Given the description of an element on the screen output the (x, y) to click on. 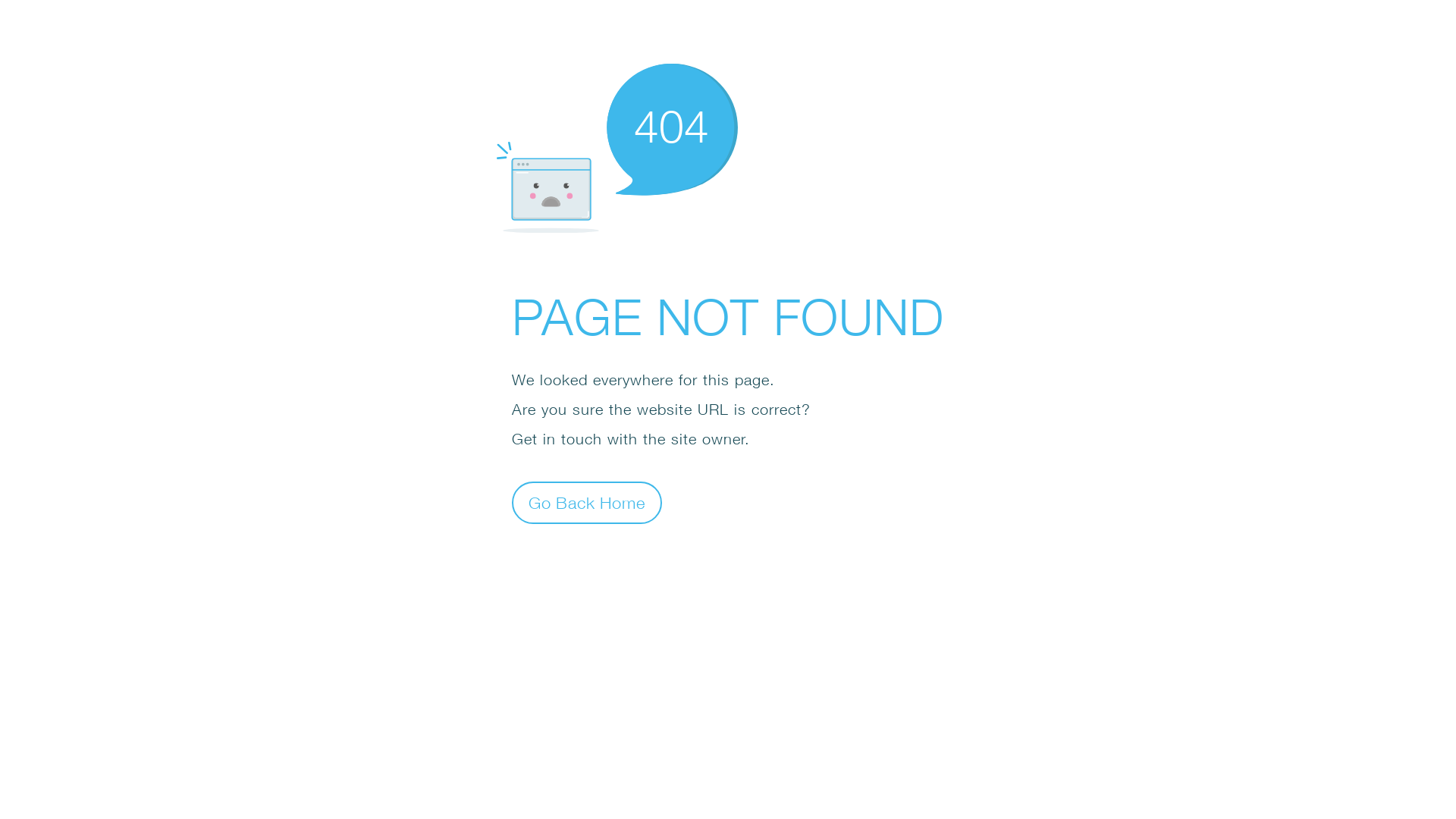
Go Back Home Element type: text (586, 502)
